Given the description of an element on the screen output the (x, y) to click on. 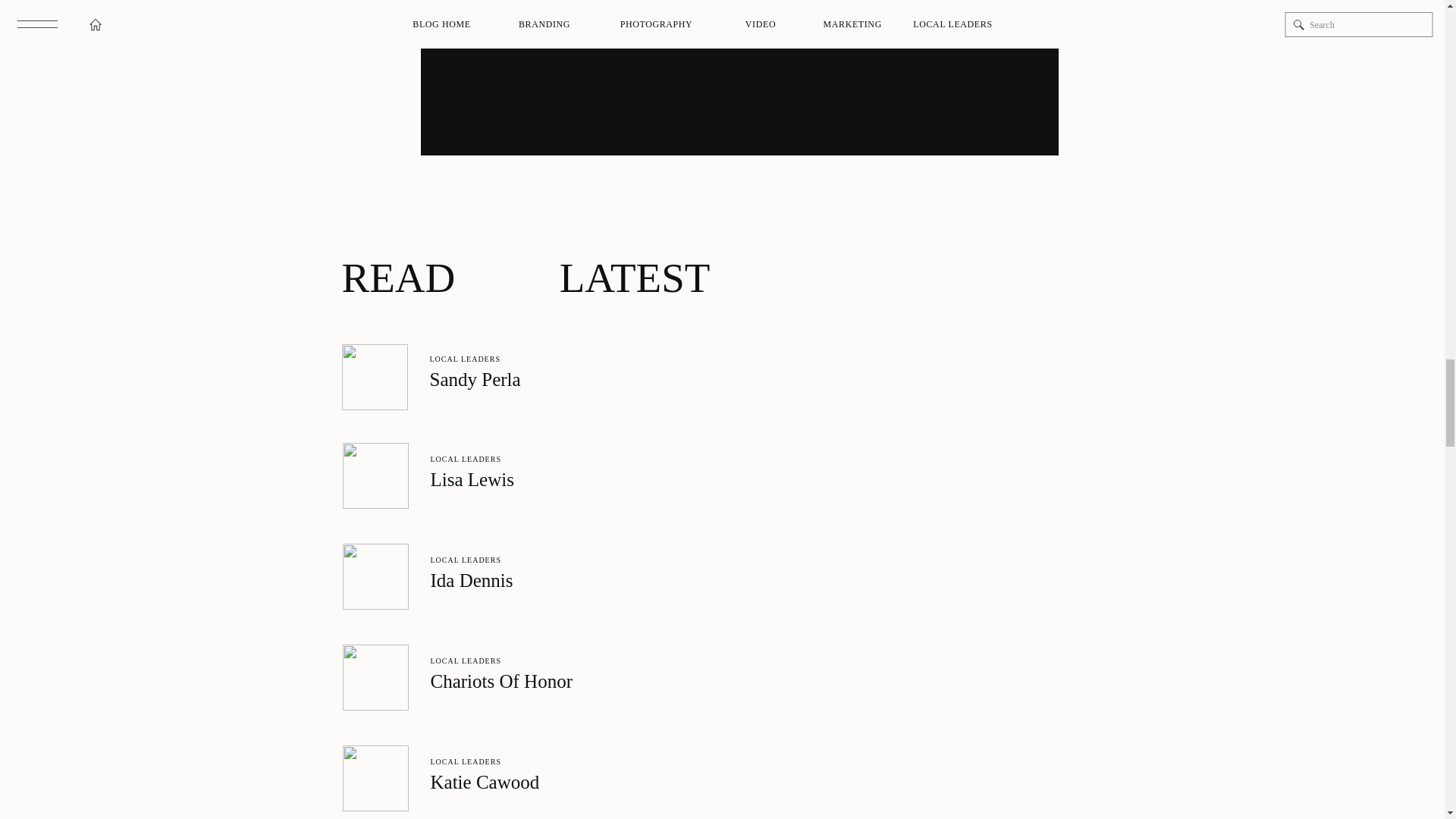
Chariots of Honor (375, 677)
Ida Dennis (375, 576)
Lisa Lewis (375, 475)
Sandy Perla (373, 376)
Katie Cawood (375, 778)
